Given the description of an element on the screen output the (x, y) to click on. 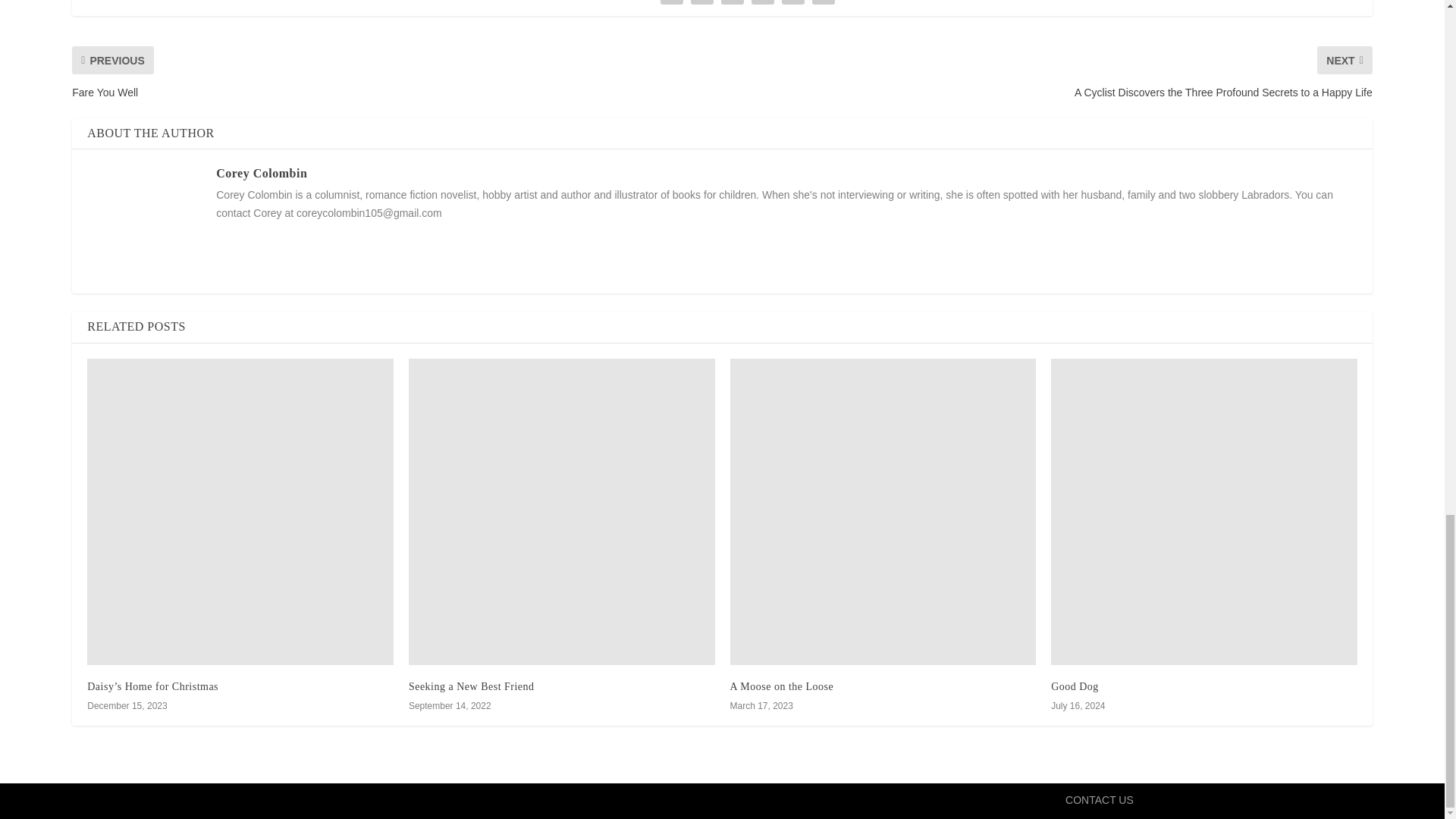
Share "Special Helpers" via Facebook (671, 4)
Good Dog (1203, 511)
Share "Special Helpers" via LinkedIn (792, 4)
A Moose on the Loose (882, 511)
Share "Special Helpers" via Email (823, 4)
Share "Special Helpers" via Twitter (702, 4)
View all posts by Corey Colombin (261, 173)
Premium WordPress Themes (336, 800)
Seeking a New Best Friend (561, 511)
Share "Special Helpers" via Pinterest (762, 4)
